Given the description of an element on the screen output the (x, y) to click on. 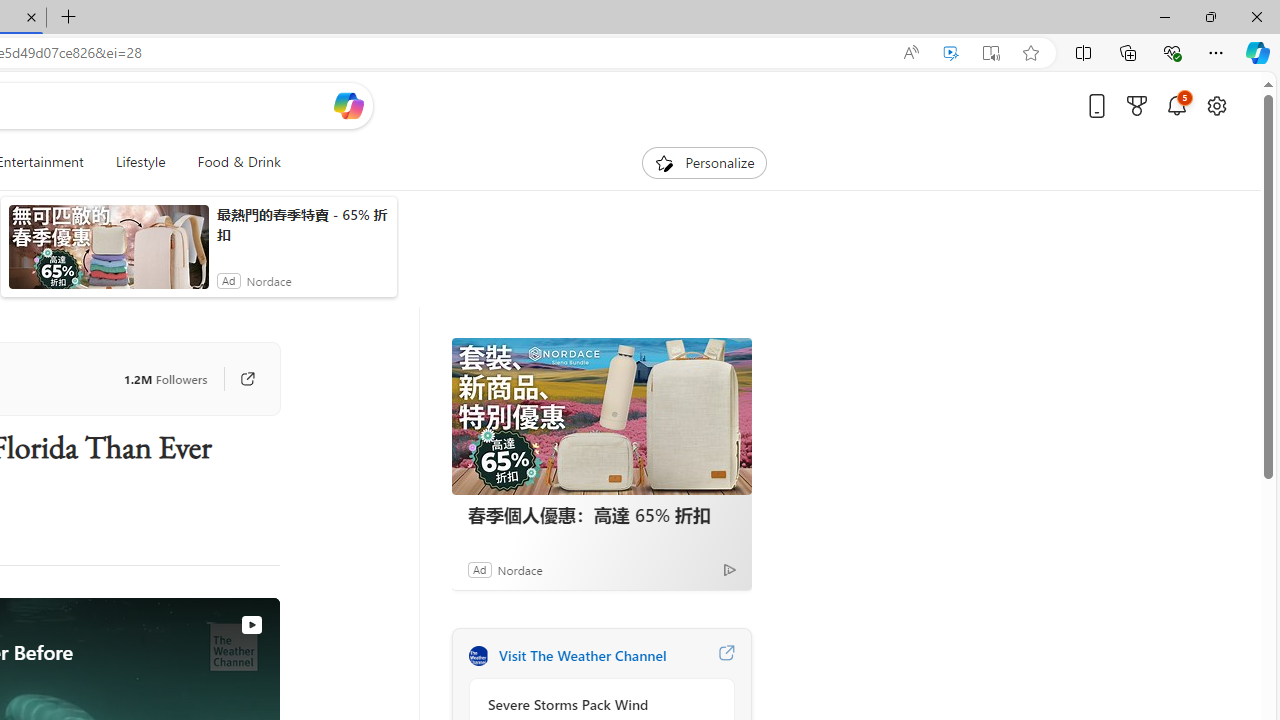
anim-content (107, 255)
Food & Drink (239, 162)
Lifestyle (139, 162)
Open Copilot (347, 105)
Personalize (703, 162)
Ad (479, 569)
Open settings (1216, 105)
Notifications (1176, 105)
